Given the description of an element on the screen output the (x, y) to click on. 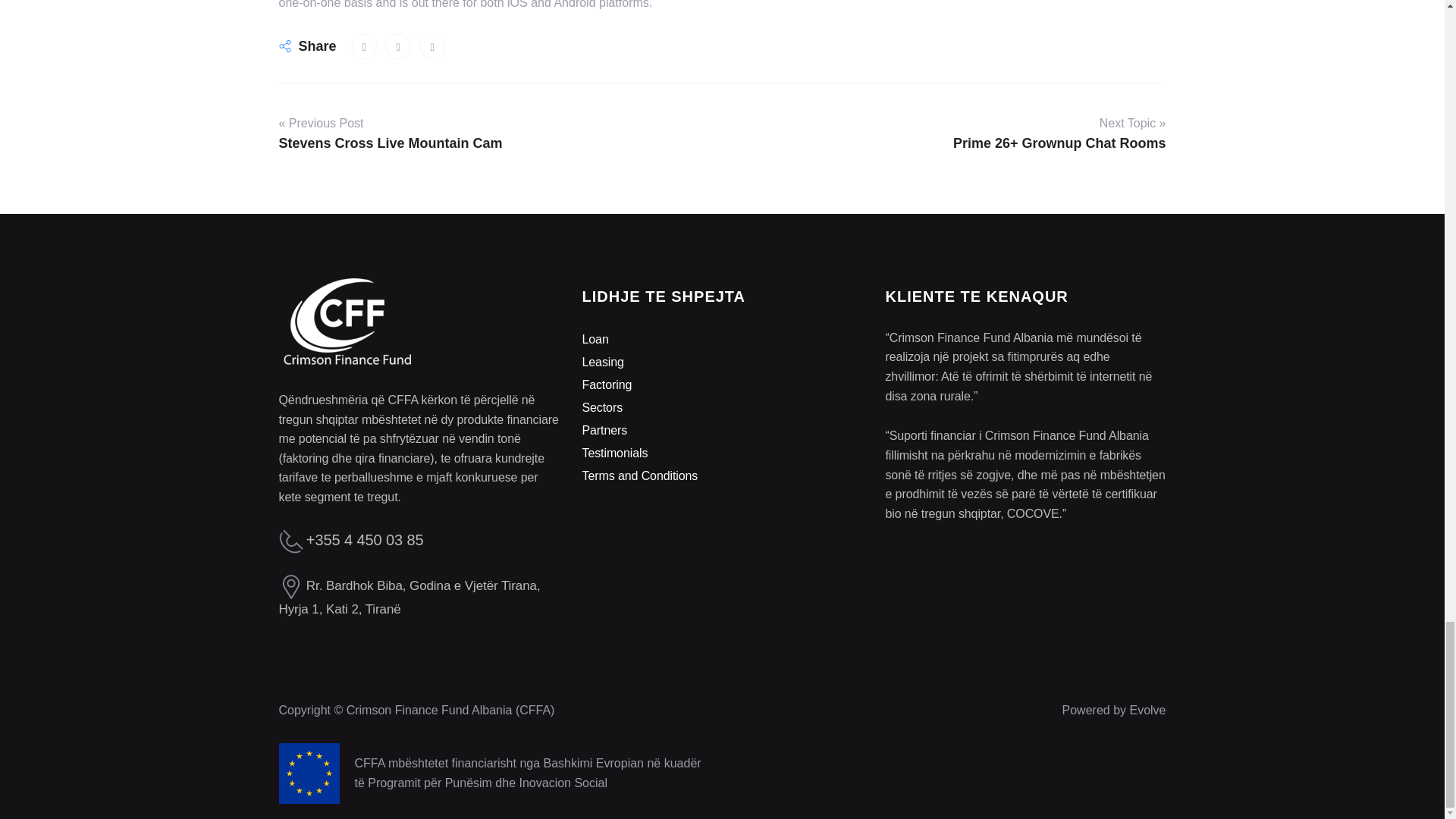
Leasing (601, 361)
Omegle Review August 2022 (363, 46)
Sectors (601, 407)
Loan (594, 338)
Partners (603, 430)
Factoring (605, 384)
